Given the description of an element on the screen output the (x, y) to click on. 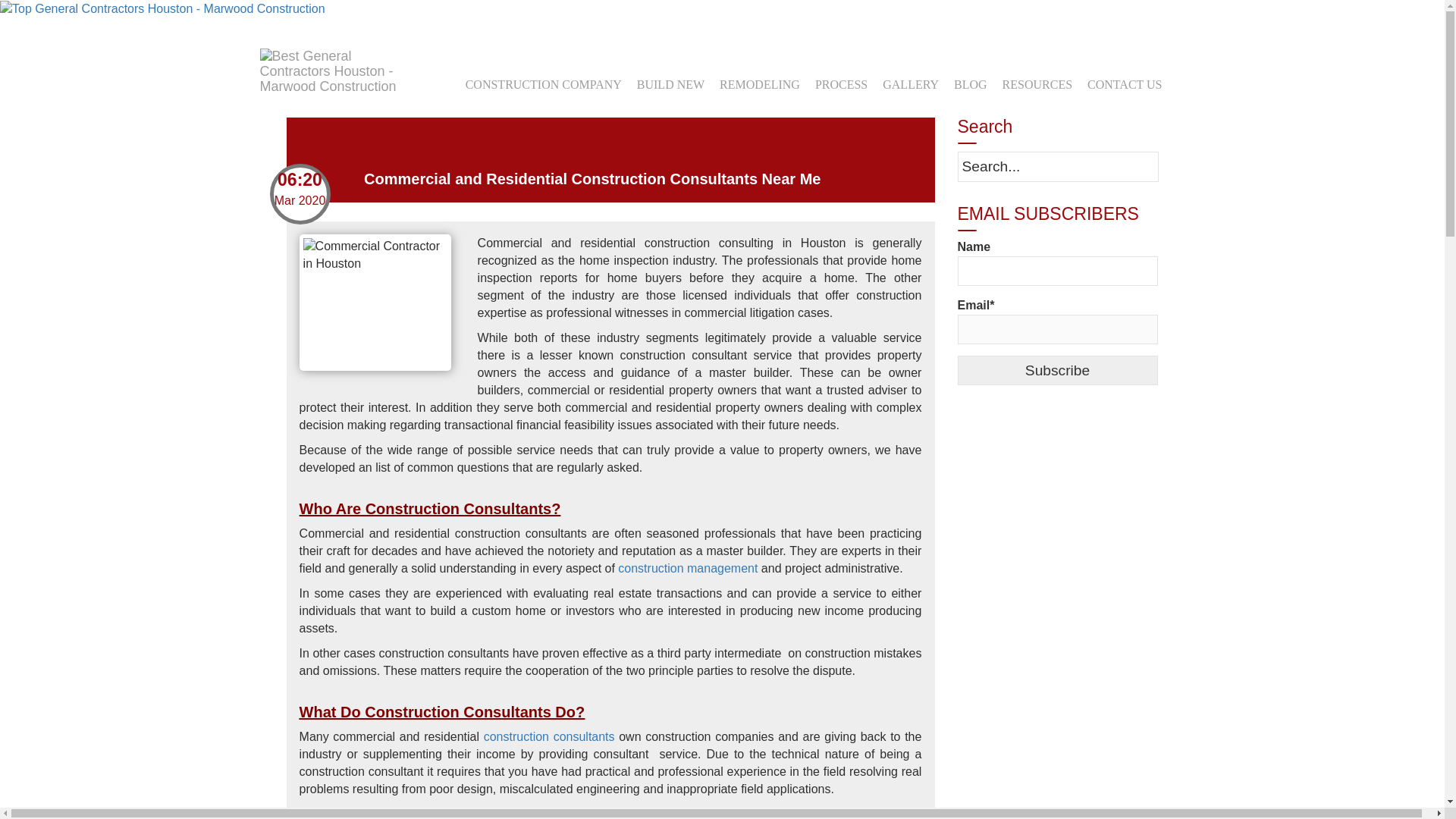
Youtube (444, 20)
facebook (280, 20)
E-Book Download (162, 9)
Instagram (417, 20)
facebook (280, 20)
GALLERY (910, 84)
linkedin (336, 20)
Search... (1056, 165)
PROCESS (841, 84)
twitter (308, 20)
